Given the description of an element on the screen output the (x, y) to click on. 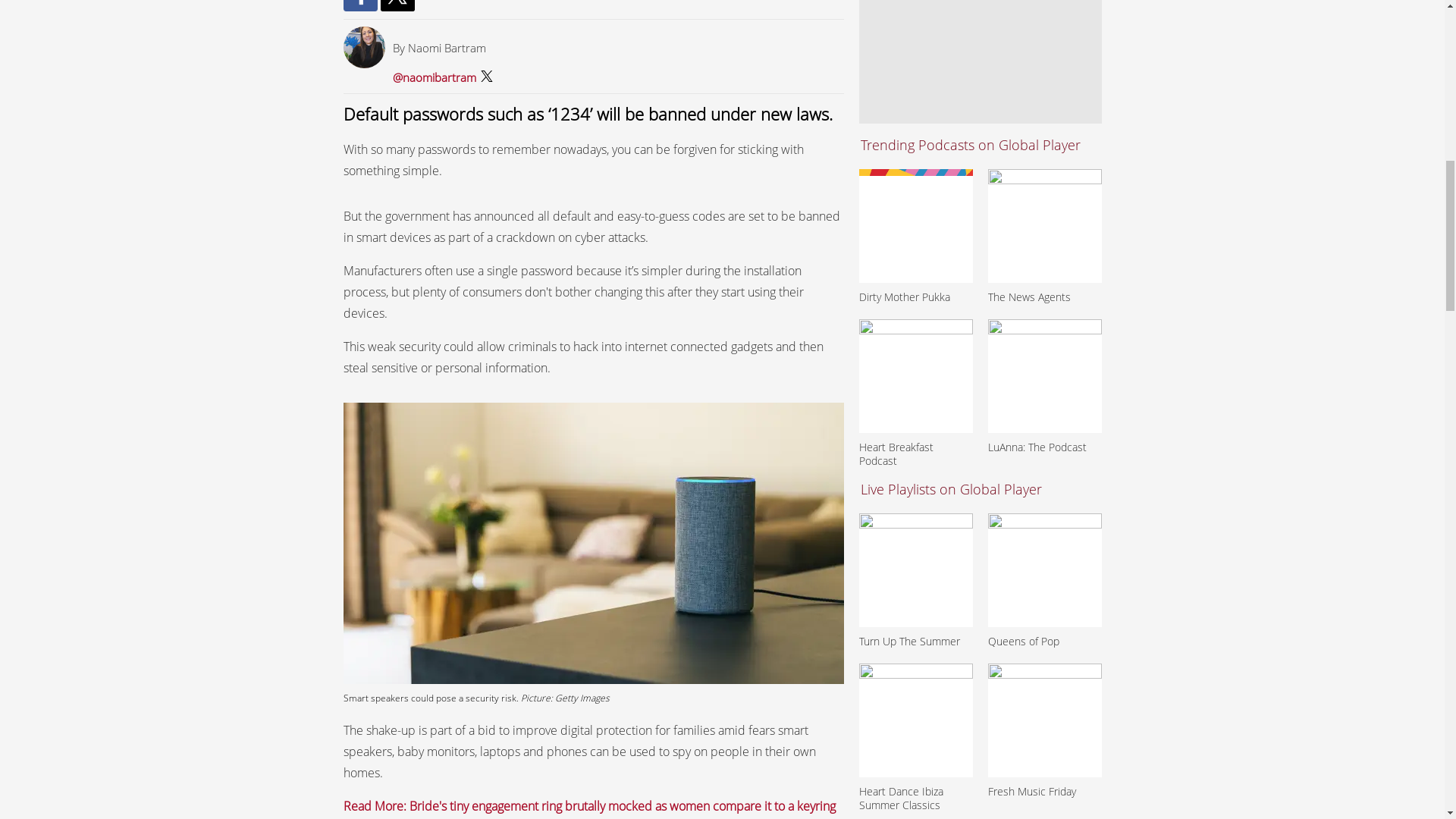
Follow Naomi Bartram on X (434, 77)
